Given the description of an element on the screen output the (x, y) to click on. 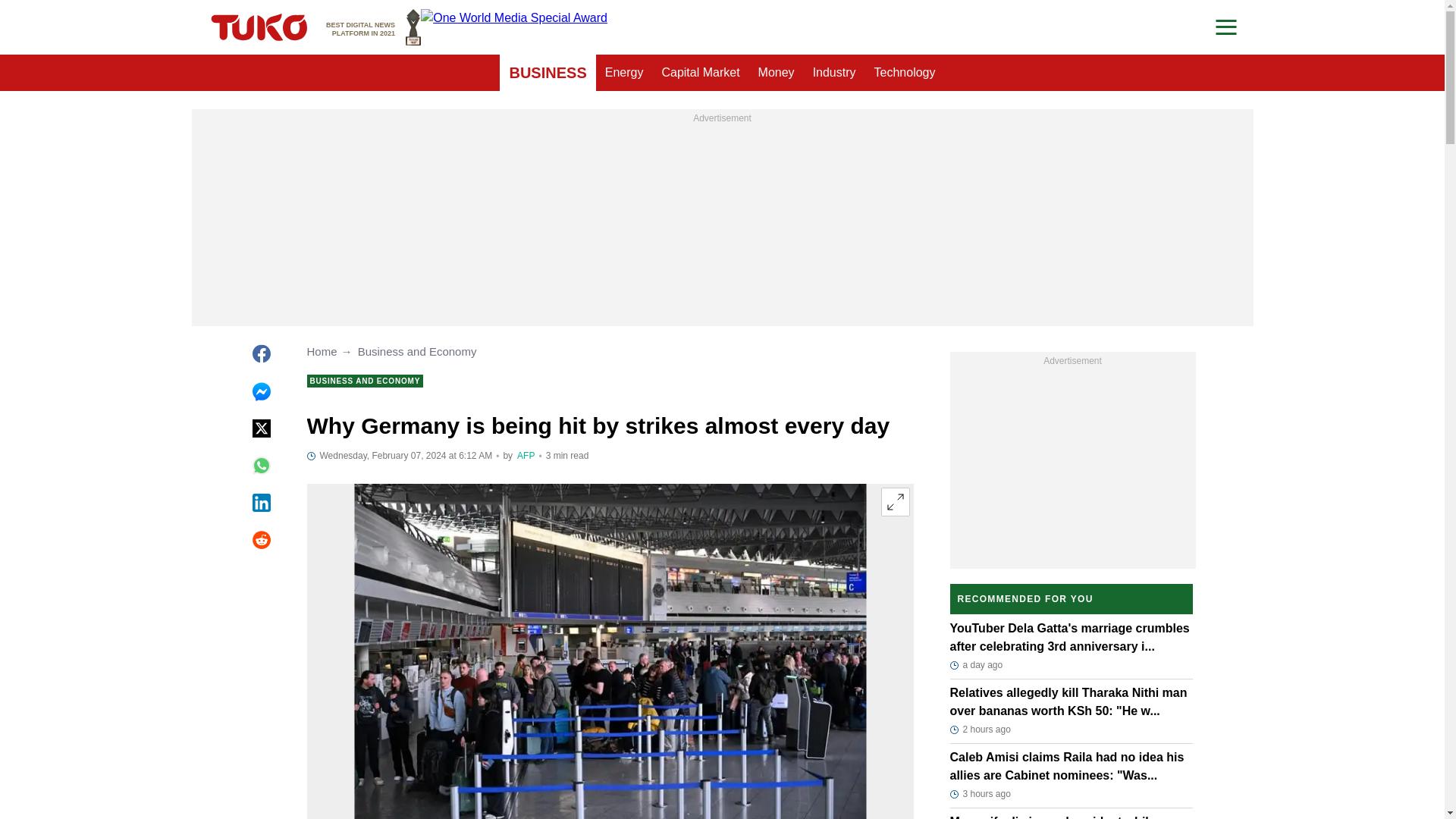
Capital Market (700, 72)
Technology (904, 72)
Money (776, 72)
Expand image (895, 501)
BUSINESS (547, 72)
3rd party ad content (721, 221)
Energy (623, 72)
Industry (373, 27)
3rd party ad content (833, 72)
Author page (1072, 464)
